Given the description of an element on the screen output the (x, y) to click on. 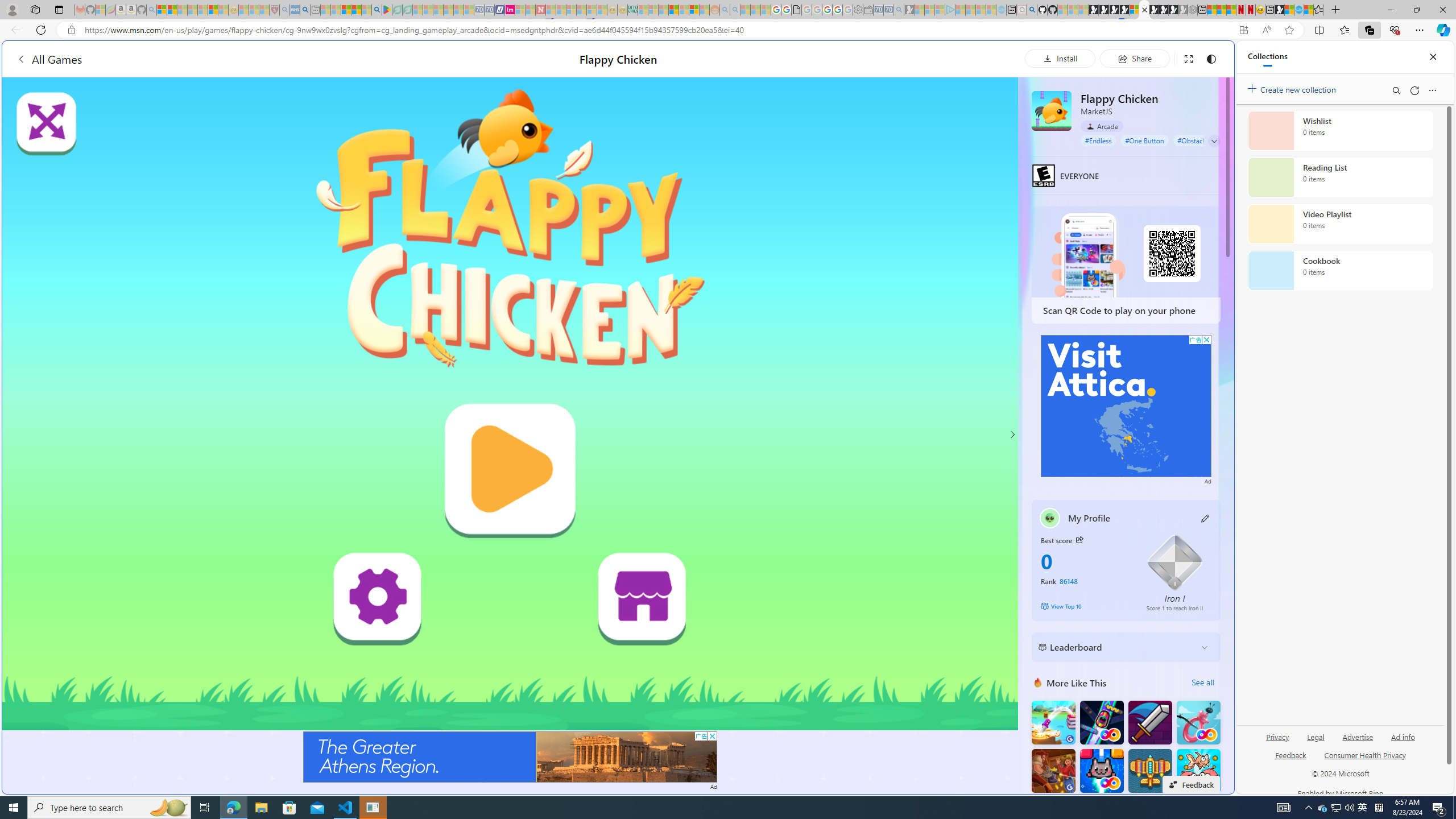
Bumper Car FRVR (1101, 722)
More Like This (1037, 682)
Bing Real Estate - Home sales and rental listings - Sleeping (898, 9)
Arcade (1101, 125)
